Given the description of an element on the screen output the (x, y) to click on. 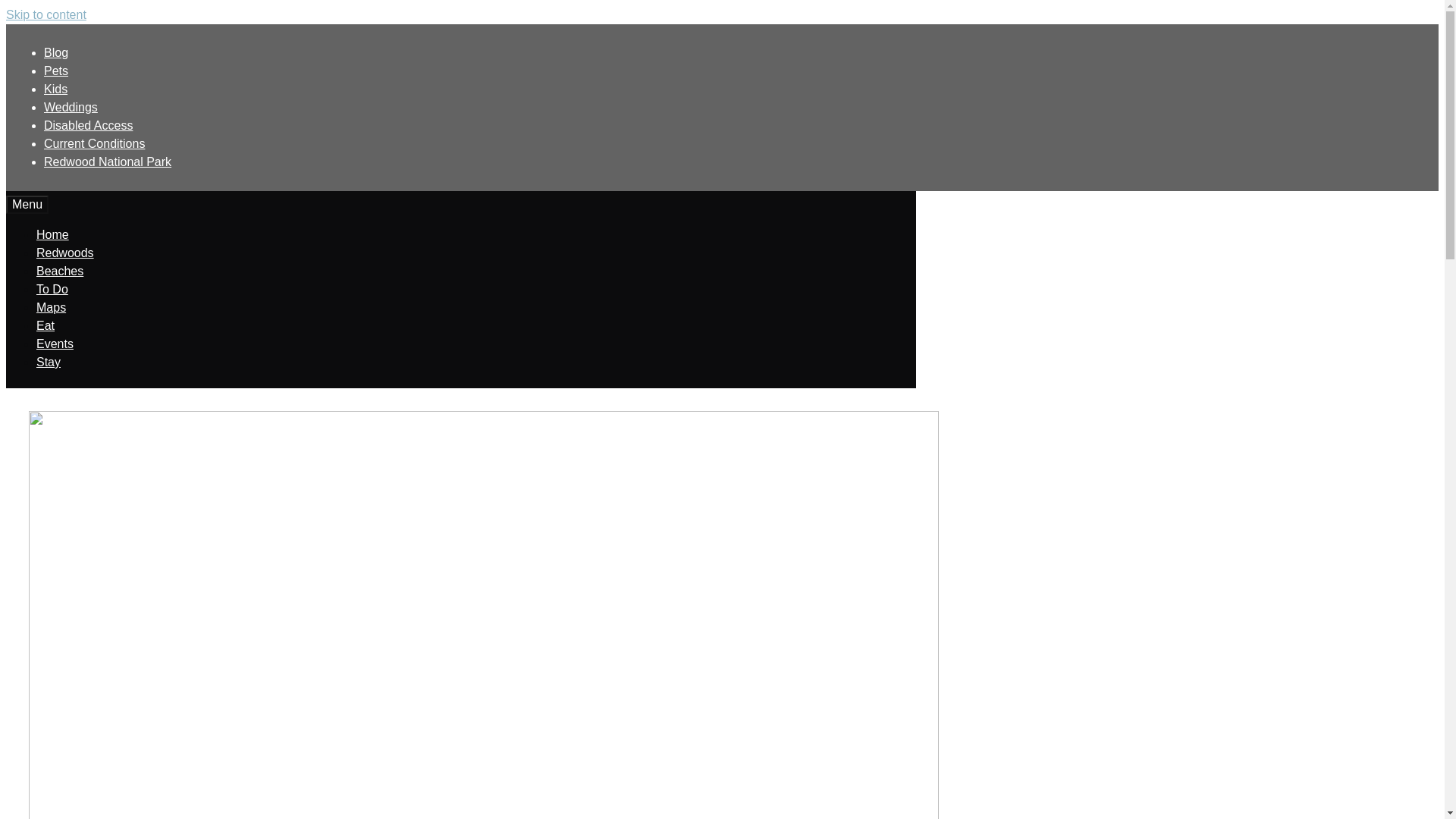
Events (1093, 87)
Weddings (860, 14)
Nature (1064, 279)
Maps (986, 87)
Redwood National Park (1126, 14)
Disabled Access (932, 14)
Current Conditions (1022, 14)
Redwoods (784, 87)
Stay (1150, 87)
Home (713, 87)
Beaches (1063, 220)
Blog (745, 14)
Beaches (861, 87)
Eat (1037, 87)
Hikes (1064, 249)
